Given the description of an element on the screen output the (x, y) to click on. 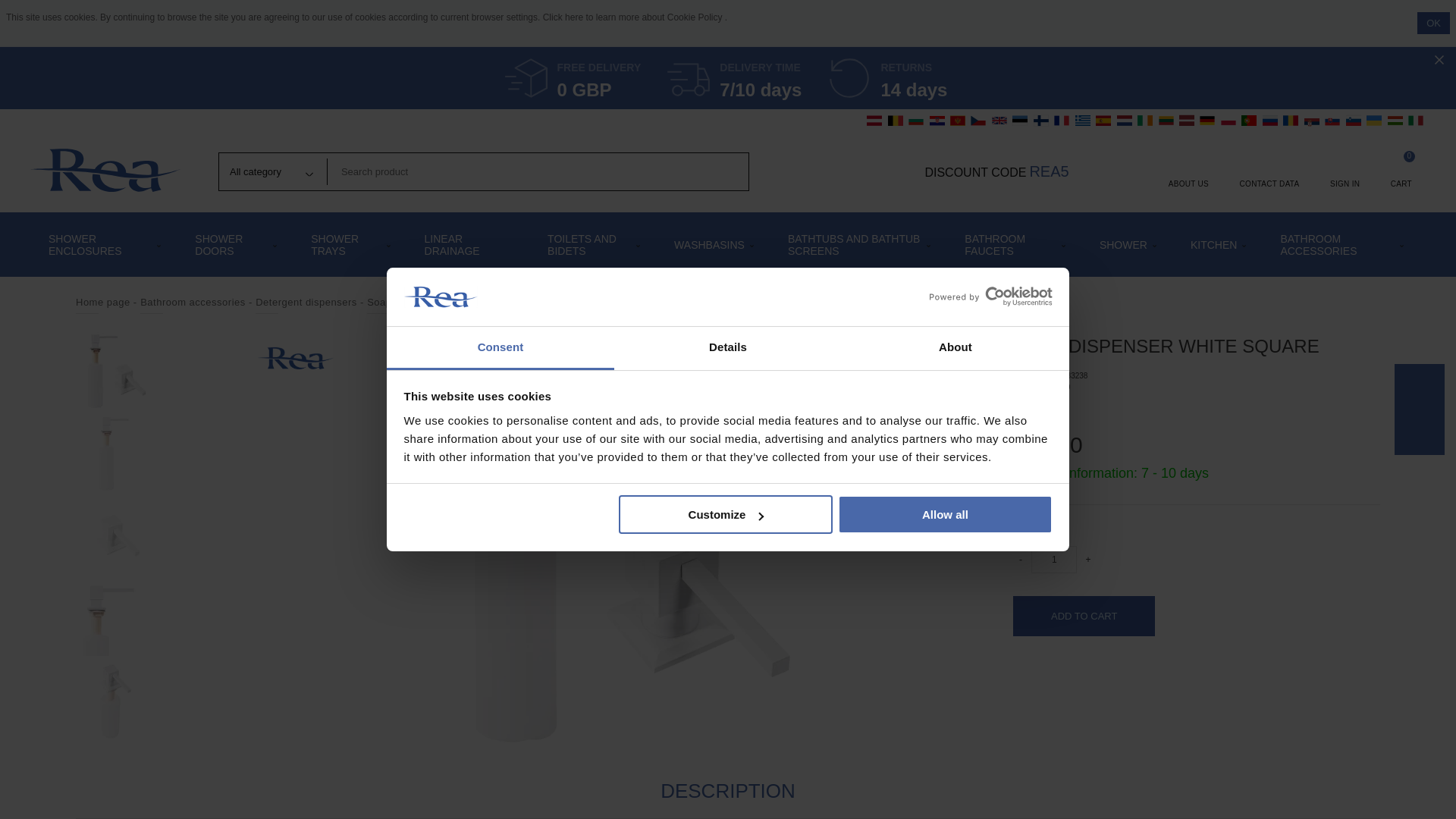
1 (1053, 559)
Croatian (937, 120)
Bulgarian (915, 120)
Details (727, 348)
About (954, 348)
Consent (500, 348)
layouts.de-at (874, 120)
layouts.fr-be (895, 120)
